Given the description of an element on the screen output the (x, y) to click on. 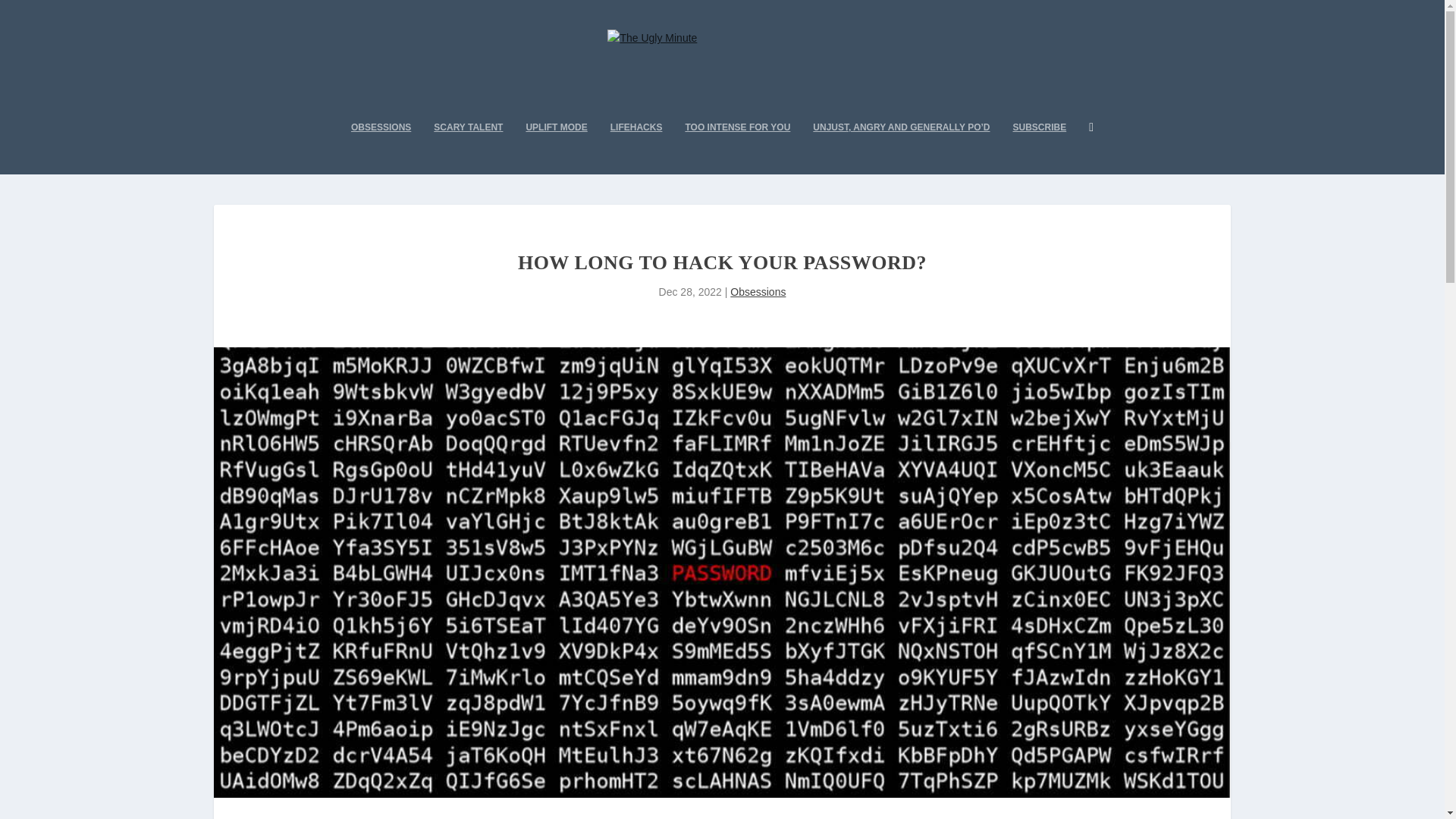
SUBSCRIBE (1040, 147)
TOO INTENSE FOR YOU (737, 147)
SCARY TALENT (467, 147)
Obsessions (758, 291)
OBSESSIONS (380, 147)
LIFEHACKS (636, 147)
UPLIFT MODE (555, 147)
